Given the description of an element on the screen output the (x, y) to click on. 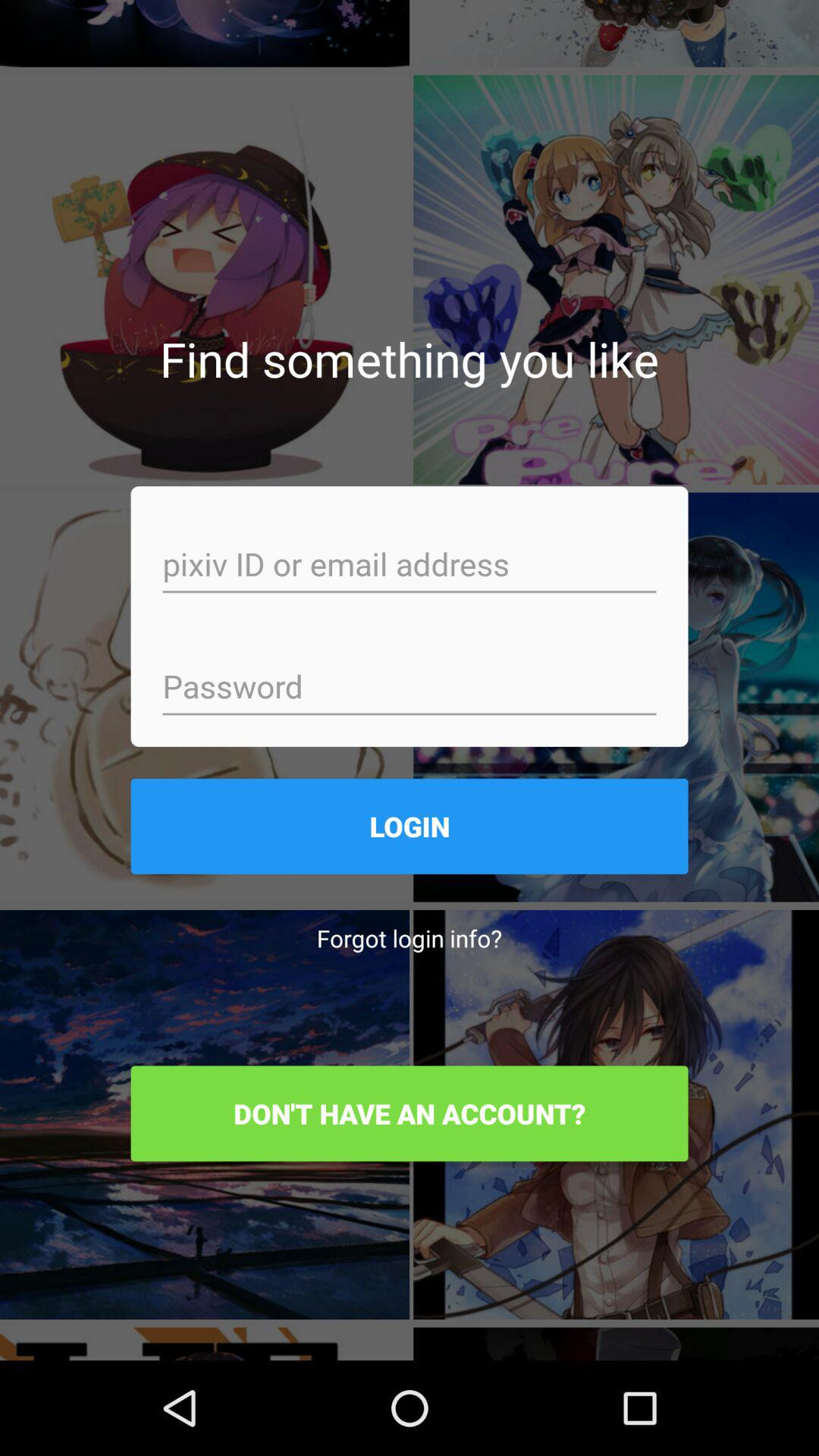
click on the text box below login (409, 938)
